Given the description of an element on the screen output the (x, y) to click on. 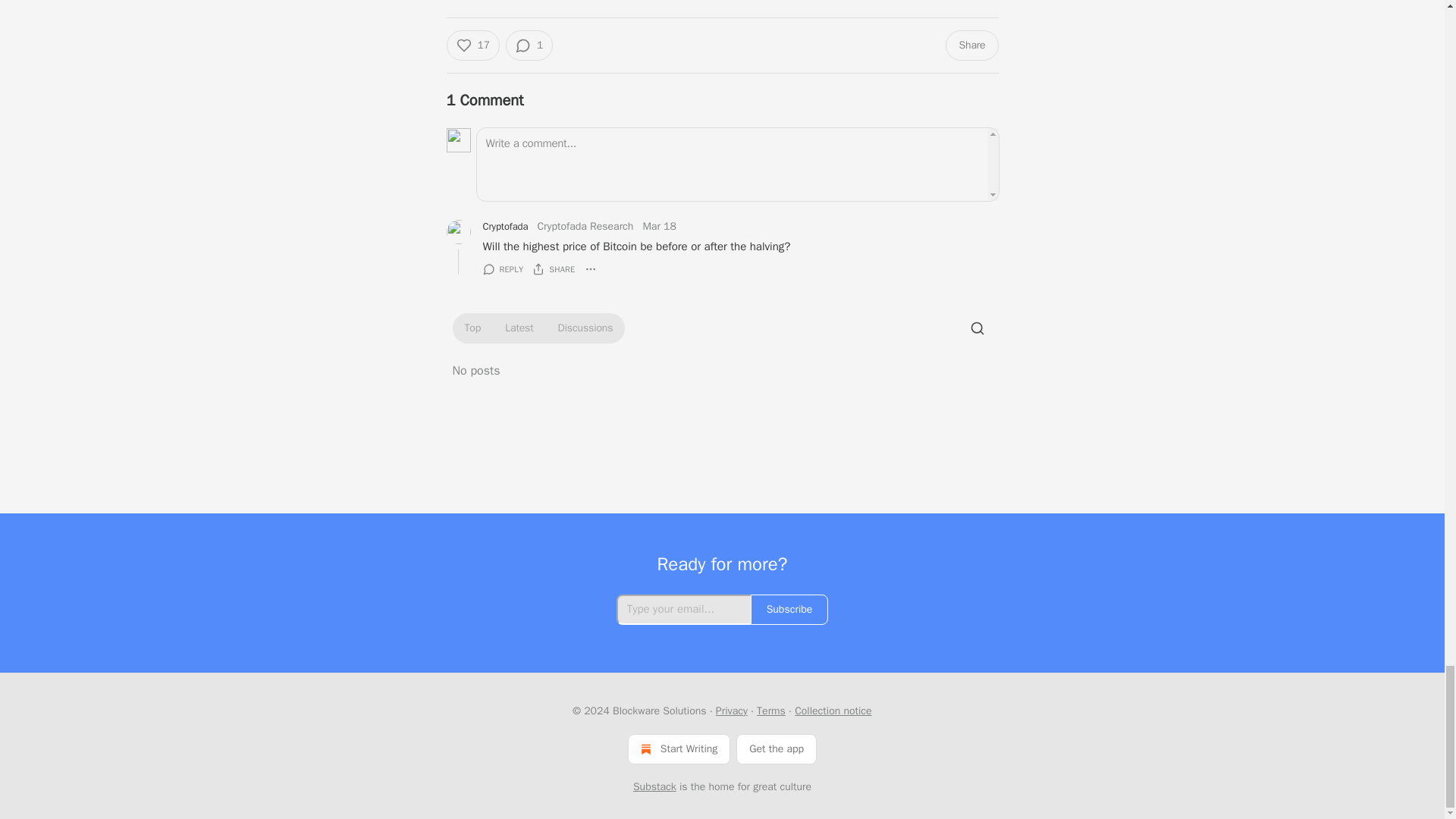
Share (970, 45)
1 (529, 45)
17 (472, 45)
